Given the description of an element on the screen output the (x, y) to click on. 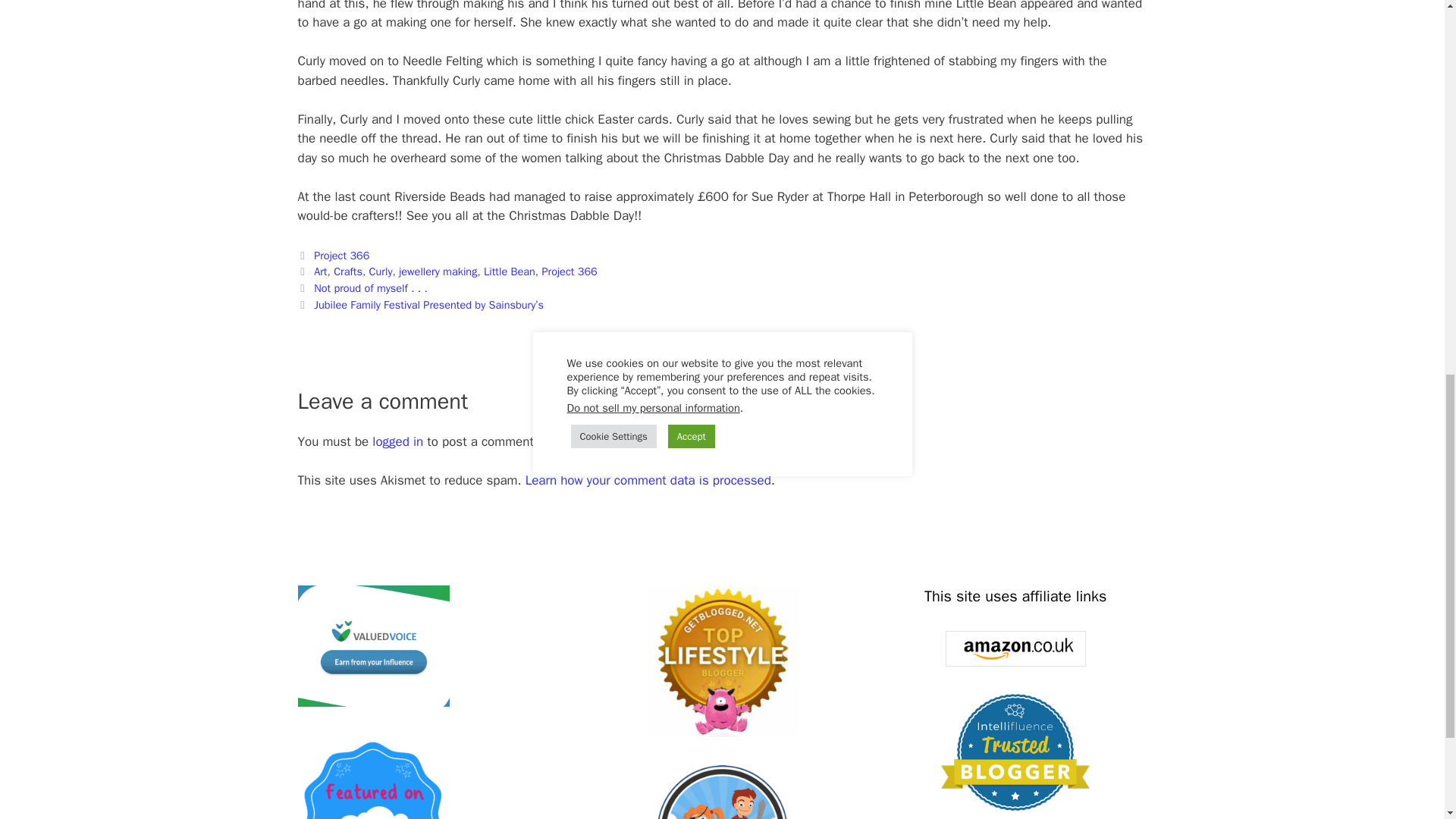
Amazon UK (1015, 648)
Intellifluence Trusted Blogger (1014, 752)
Scroll back to top (1406, 720)
